Given the description of an element on the screen output the (x, y) to click on. 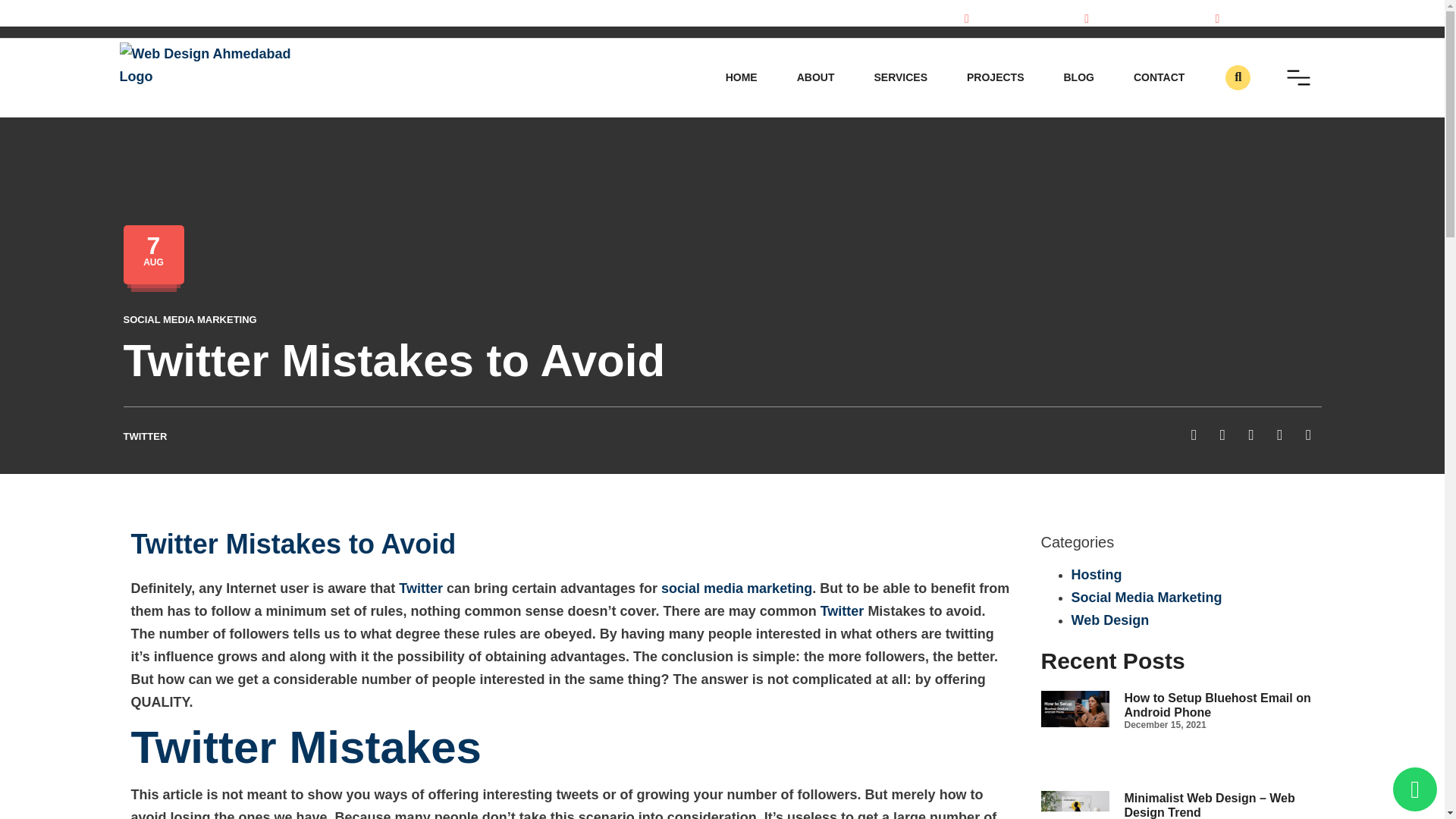
SERVICES (900, 77)
ABOUT (815, 77)
HOME (741, 77)
